Given the description of an element on the screen output the (x, y) to click on. 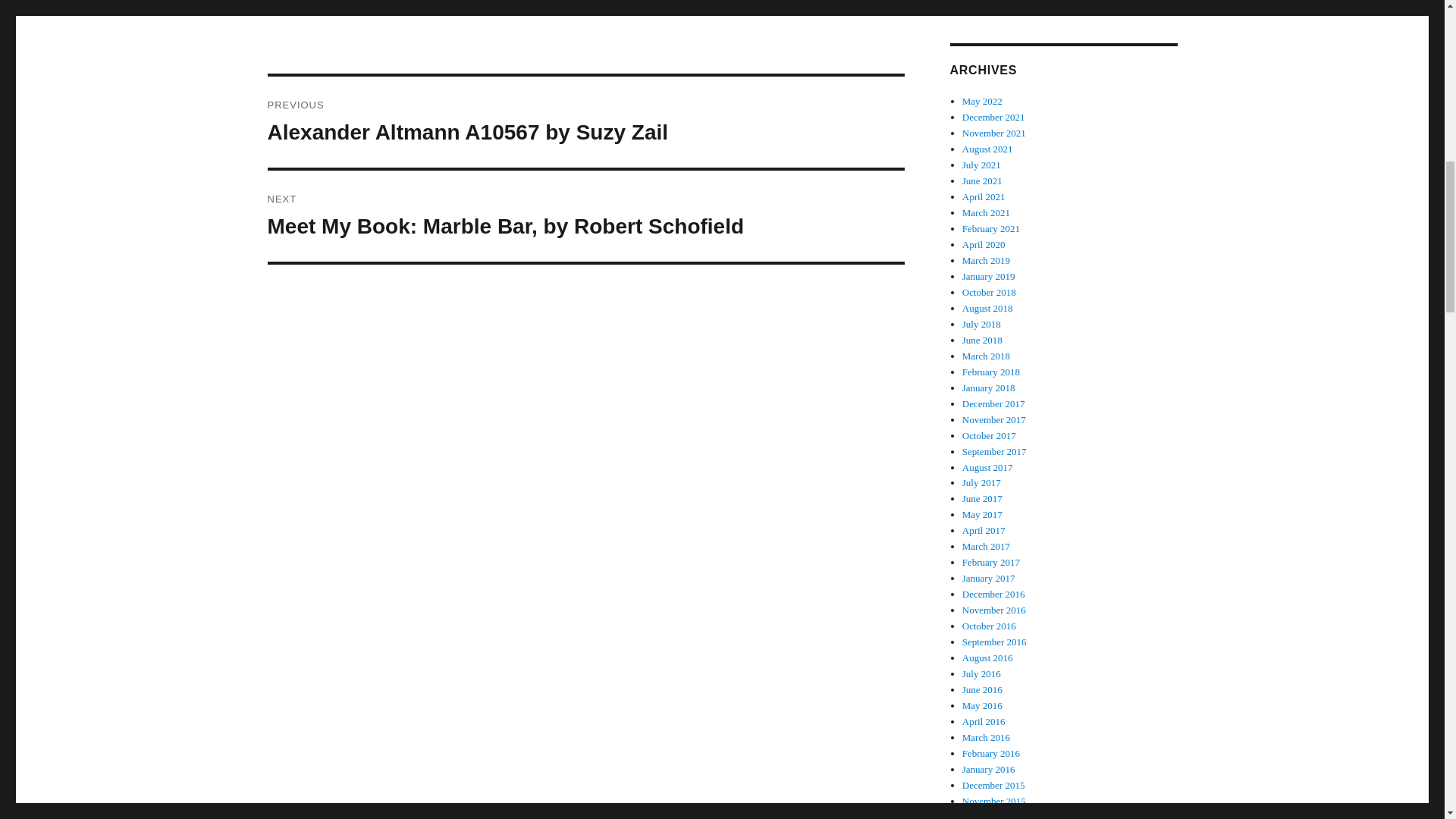
June 2021 (982, 180)
December 2021 (993, 116)
November 2021 (994, 132)
August 2021 (987, 148)
May 2022 (982, 101)
July 2021 (981, 164)
March 2021 (986, 212)
April 2021 (984, 196)
